Given the description of an element on the screen output the (x, y) to click on. 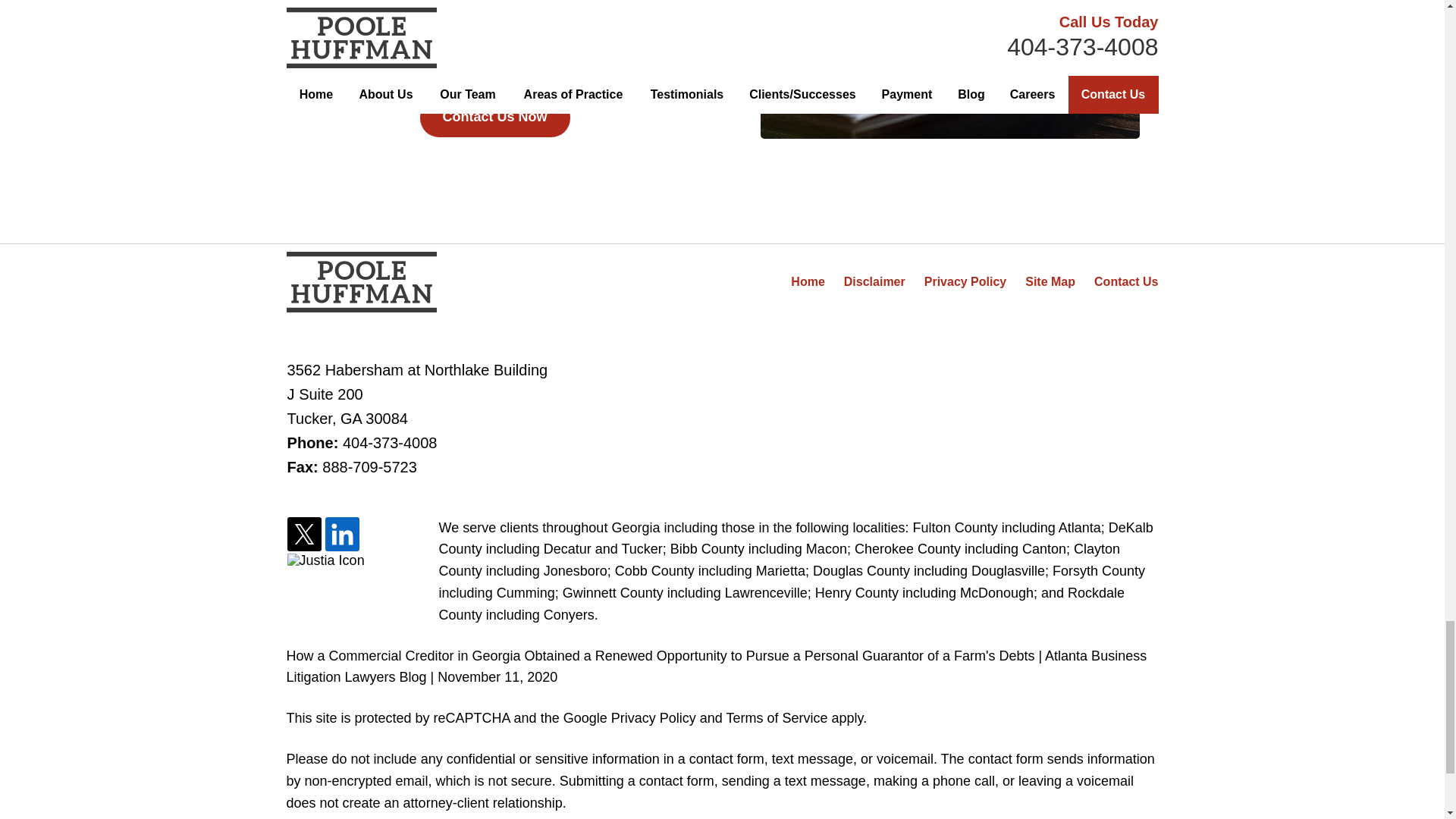
Linkedin (341, 534)
Justia (325, 560)
Twitter (303, 534)
